Given the description of an element on the screen output the (x, y) to click on. 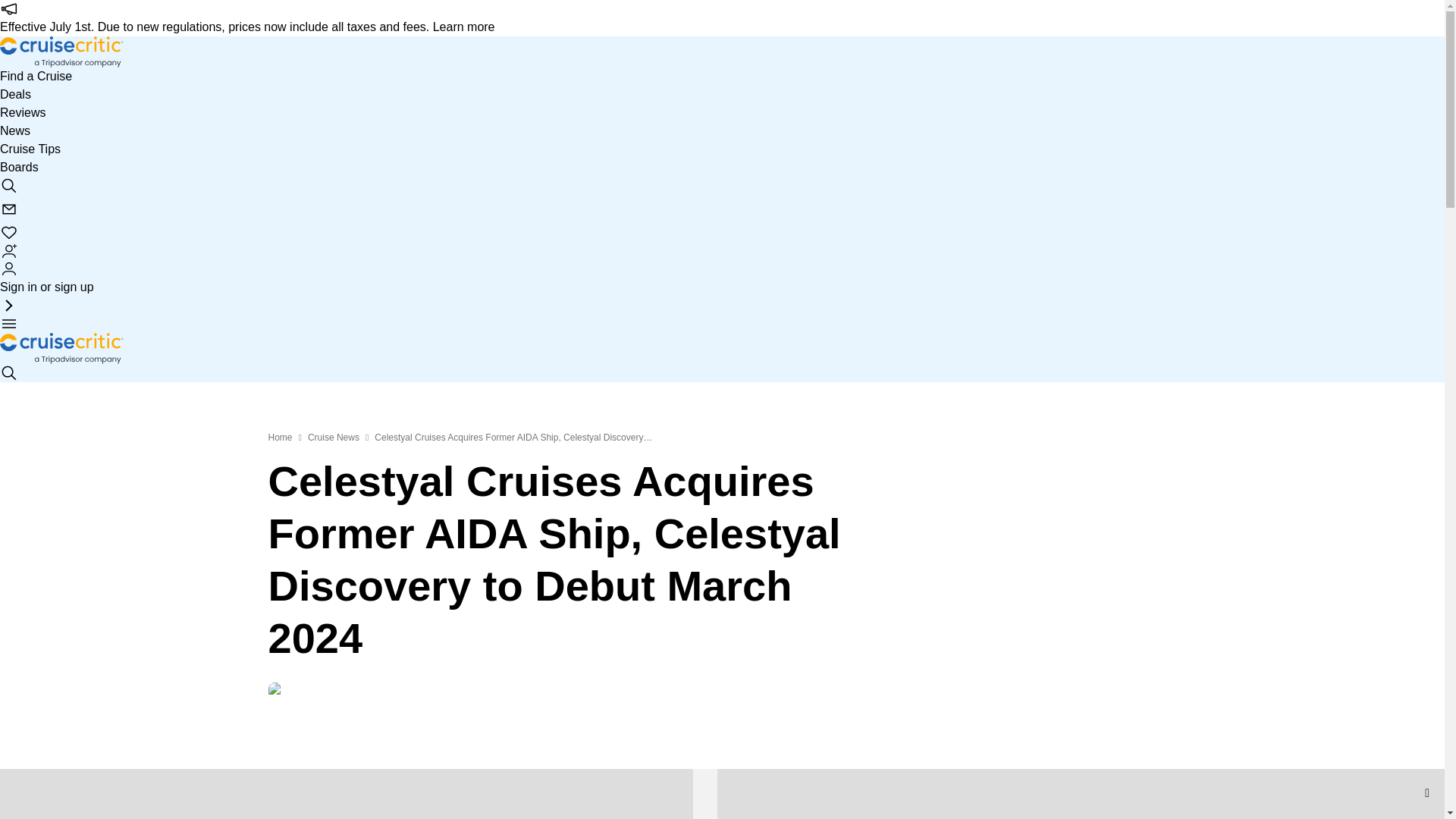
Learn more (463, 26)
Find a Cruise (35, 75)
Cruise Tips (30, 149)
News (15, 130)
Deals (15, 94)
Sign in or sign up (47, 277)
Cruise News (333, 437)
Reviews (22, 113)
Home (279, 437)
Boards (19, 166)
